Given the description of an element on the screen output the (x, y) to click on. 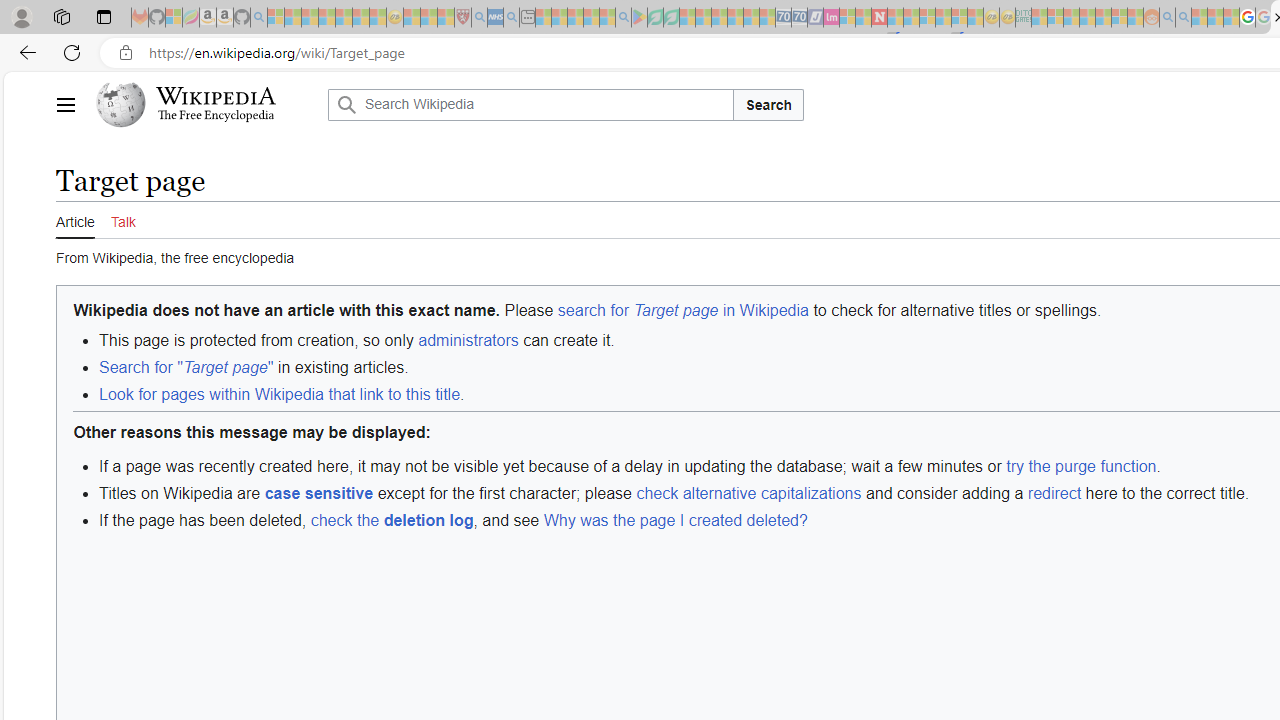
The Weather Channel - MSN - Sleeping (309, 17)
Wikipedia The Free Encyclopedia (206, 104)
utah sues federal government - Search - Sleeping (511, 17)
redirect (1053, 492)
try the purge function (1081, 466)
Terms of Use Agreement - Sleeping (655, 17)
Pets - MSN - Sleeping (591, 17)
